Given the description of an element on the screen output the (x, y) to click on. 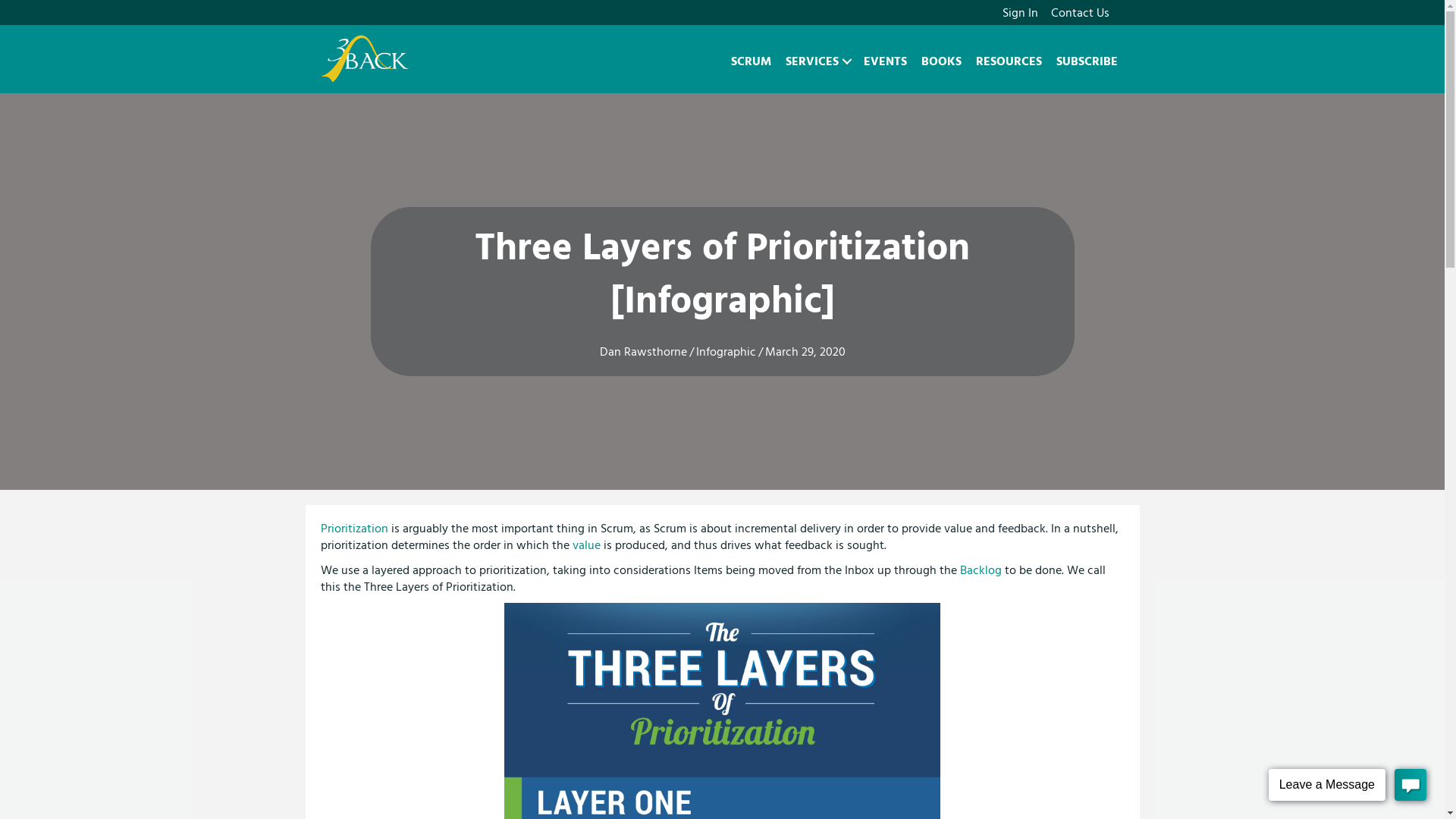
Backlog Element type: text (980, 569)
EVENTS Element type: text (884, 61)
SCRUM Element type: text (750, 61)
3back-logo_textured-yellow-swosh-198 Element type: hover (365, 59)
Contact Us Element type: text (1079, 12)
Infographic Element type: text (726, 351)
RESOURCES Element type: text (1008, 61)
Prioritization Element type: text (353, 528)
Dan Rawsthorne Element type: text (642, 351)
Pure Chat Live Chat Element type: hover (1347, 786)
SERVICES Element type: text (816, 61)
Sign In Element type: text (1020, 12)
BOOKS Element type: text (941, 61)
SUBSCRIBE Element type: text (1086, 61)
value Element type: text (585, 544)
